Given the description of an element on the screen output the (x, y) to click on. 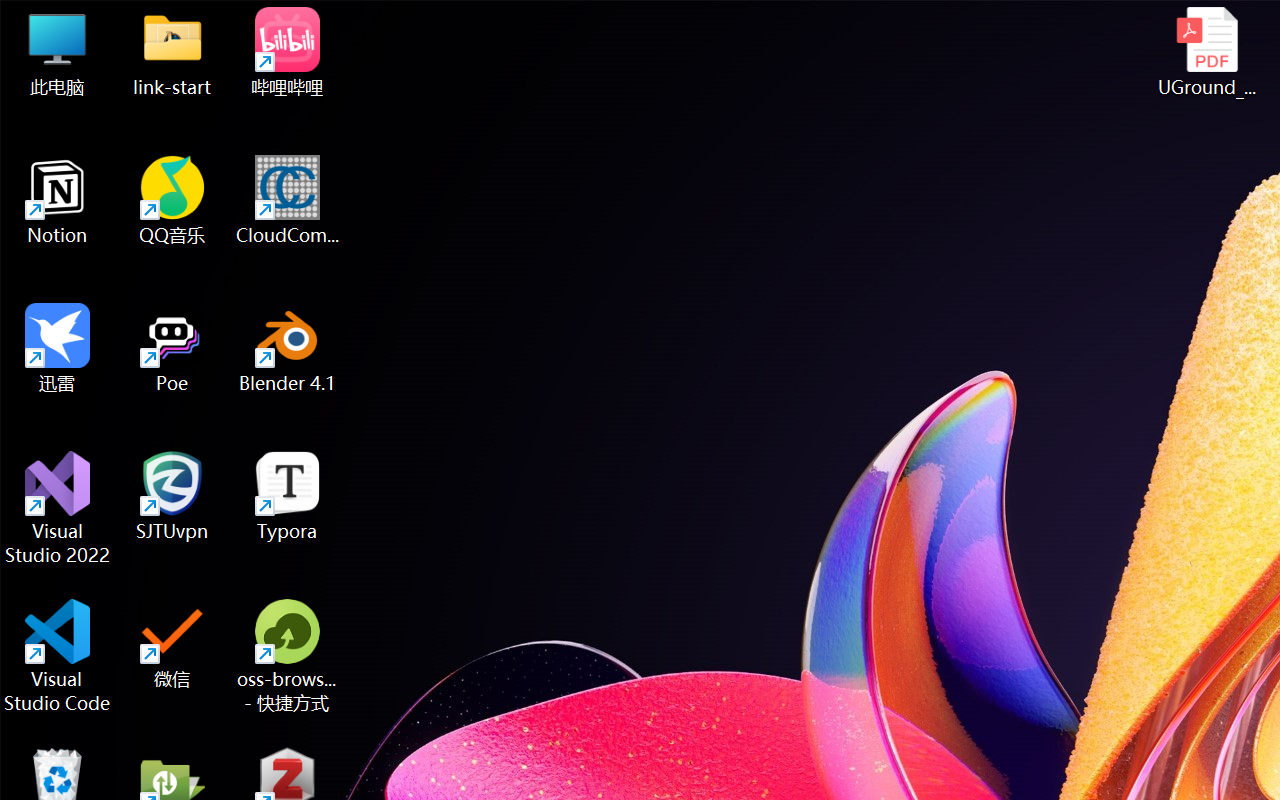
Typora (287, 496)
CloudCompare (287, 200)
Visual Studio 2022 (57, 508)
UGround_paper.pdf (1206, 52)
Blender 4.1 (287, 348)
Visual Studio Code (57, 656)
